Given the description of an element on the screen output the (x, y) to click on. 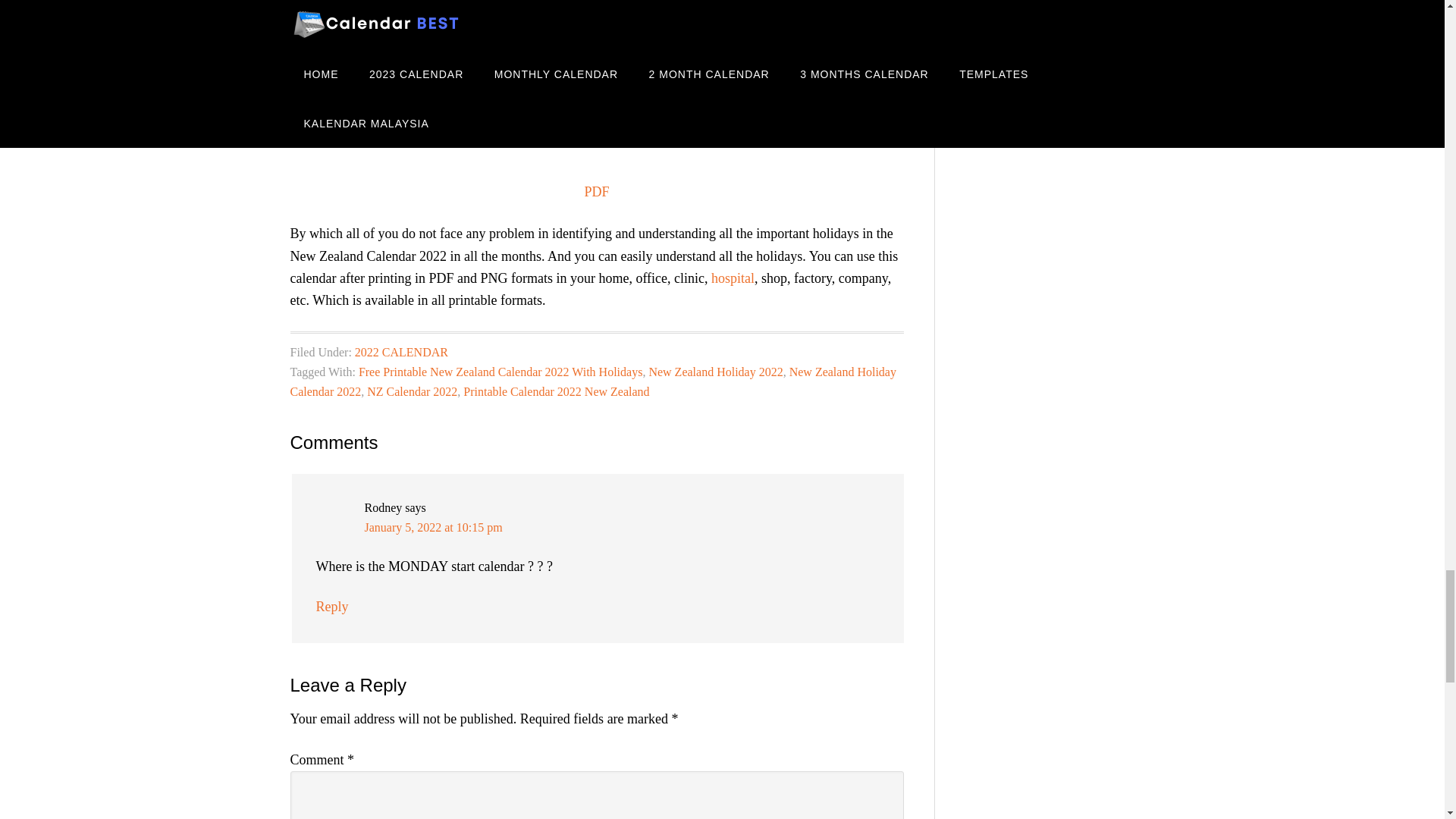
Reply (331, 606)
Printable Calendar 2022 New Zealand (556, 391)
hospital (732, 278)
2022 CALENDAR (401, 351)
New Zealand Holiday 2022 (715, 371)
PDF (595, 191)
New Zealand Holiday Calendar 2022 (592, 381)
NZ Calendar 2022 (411, 391)
January 5, 2022 at 10:15 pm (433, 526)
Free Printable New Zealand Calendar 2022 With Holidays (500, 371)
